Given the description of an element on the screen output the (x, y) to click on. 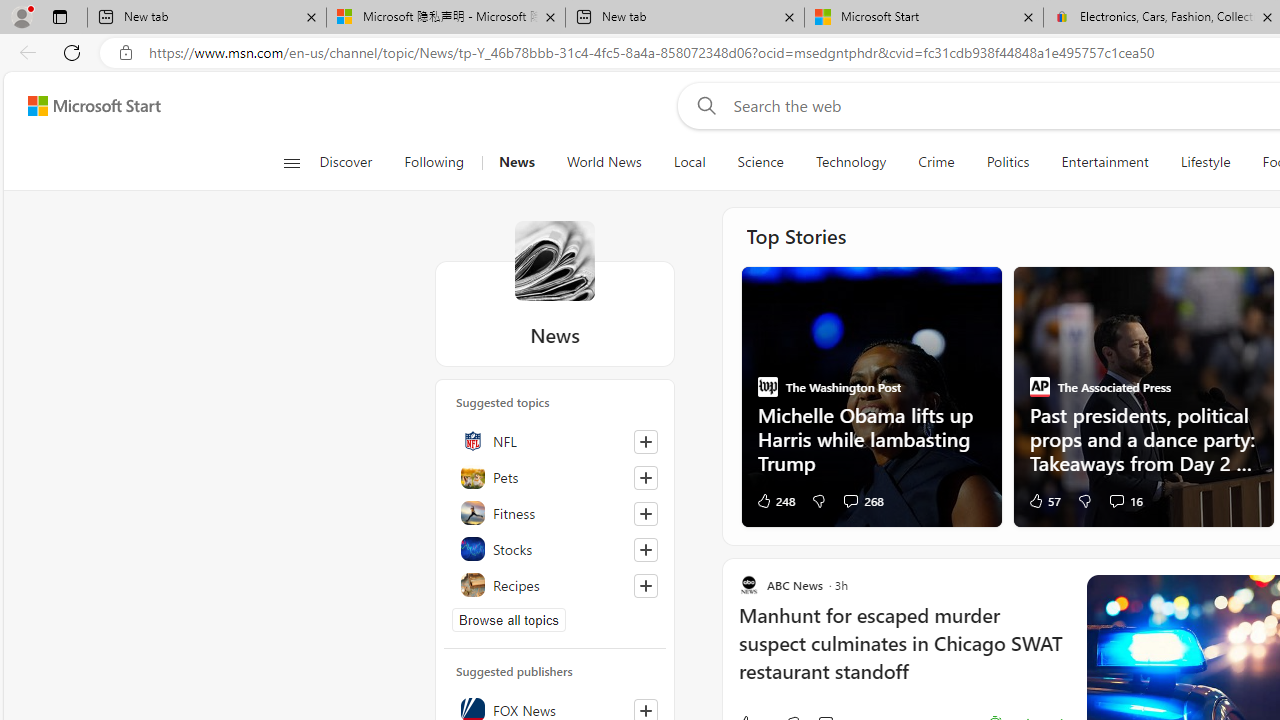
NFL (555, 440)
57 Like (1043, 500)
Pets (555, 476)
